Given the description of an element on the screen output the (x, y) to click on. 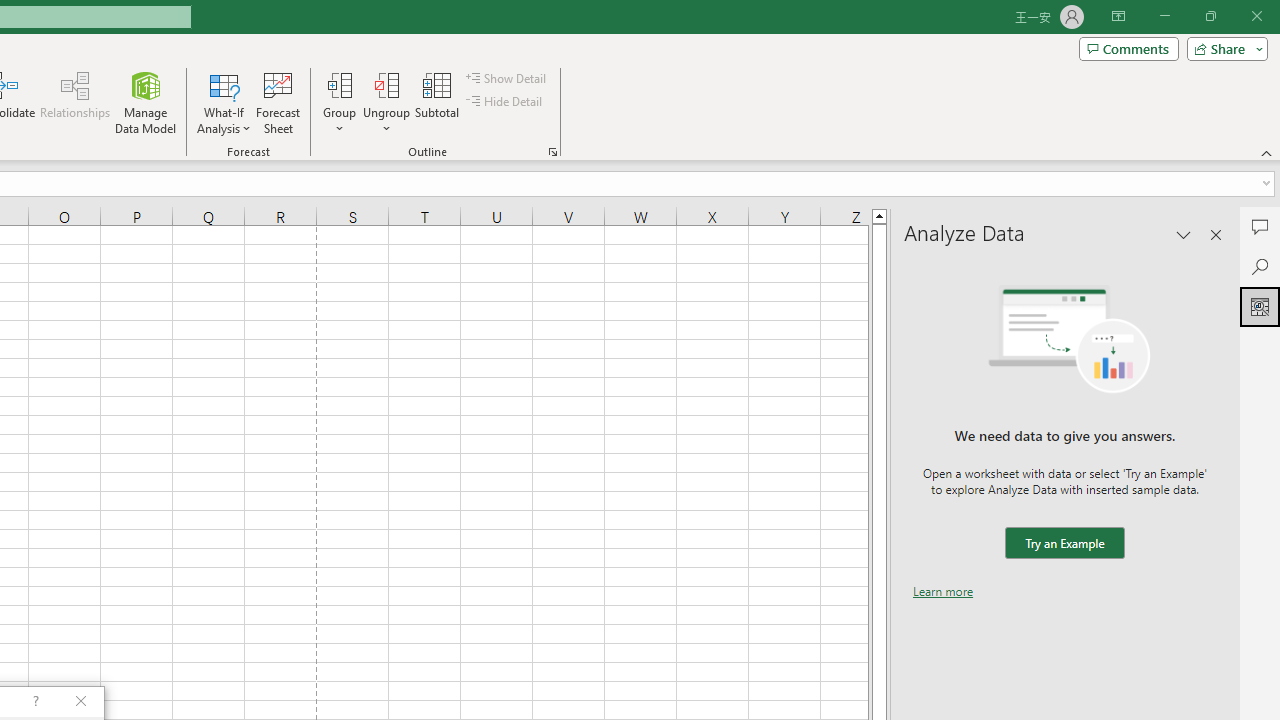
Search (1260, 266)
Task Pane Options (1183, 234)
Learn more (943, 591)
Collapse the Ribbon (1267, 152)
Analyze Data (1260, 306)
Close pane (1215, 234)
Subtotal (437, 102)
Restore Down (1210, 16)
Group... (339, 84)
Ungroup... (386, 102)
Forecast Sheet (278, 102)
What-If Analysis (223, 102)
We need data to give you answers. Try an Example (1064, 543)
